Given the description of an element on the screen output the (x, y) to click on. 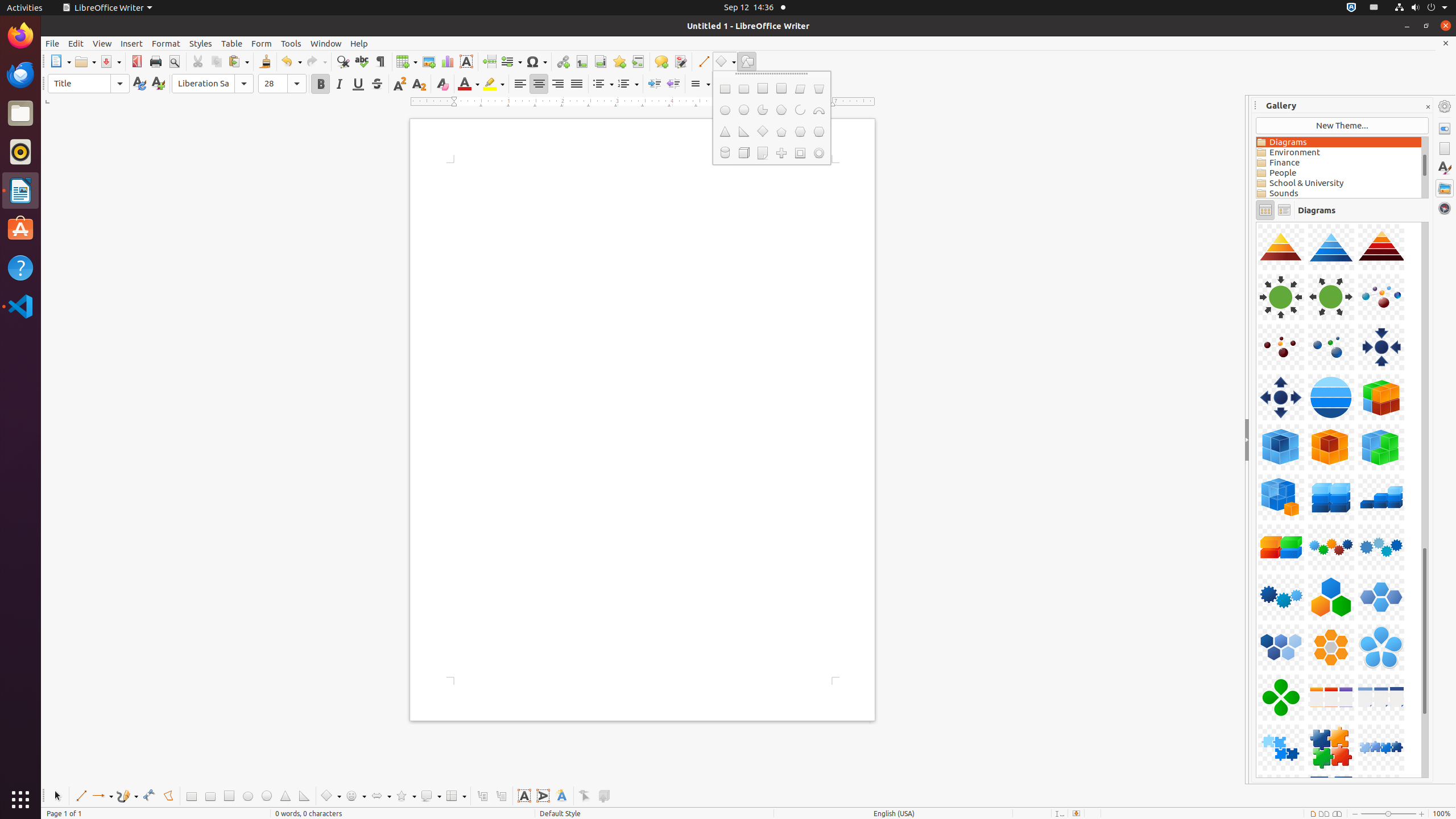
New Element type: push-button (157, 83)
Font Size Element type: combo-box (282, 83)
Bullets Element type: push-button (602, 83)
Component-Cuboid04-Orange Element type: list-item (1256, 222)
Redo Element type: push-button (315, 61)
